Given the description of an element on the screen output the (x, y) to click on. 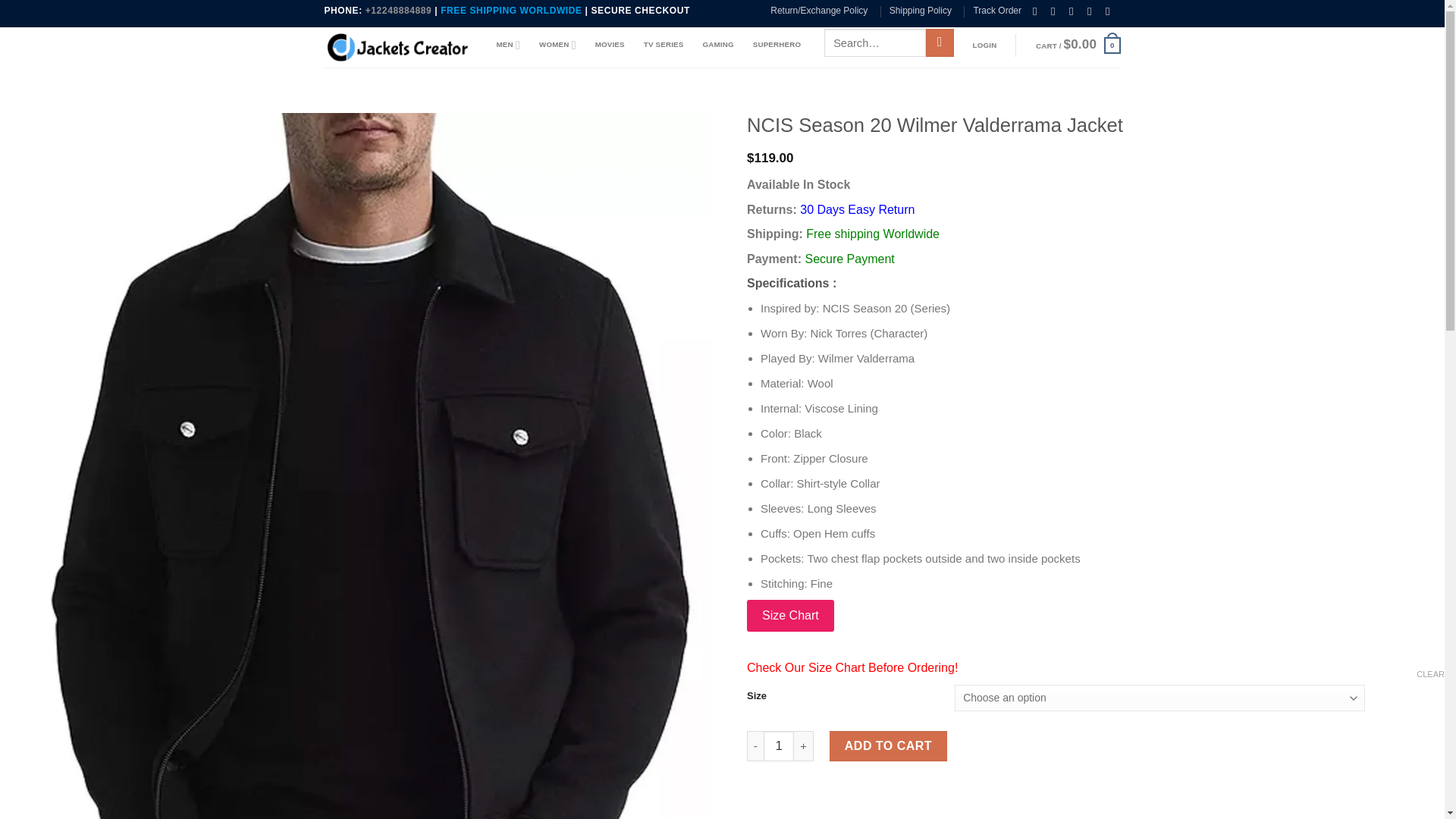
Shipping Policy (920, 11)
Track Order (997, 11)
TV SERIES (663, 44)
Cart (1078, 45)
WOMEN (557, 44)
Jackets Creator (399, 47)
GAMING (717, 44)
1 (777, 746)
